Given the description of an element on the screen output the (x, y) to click on. 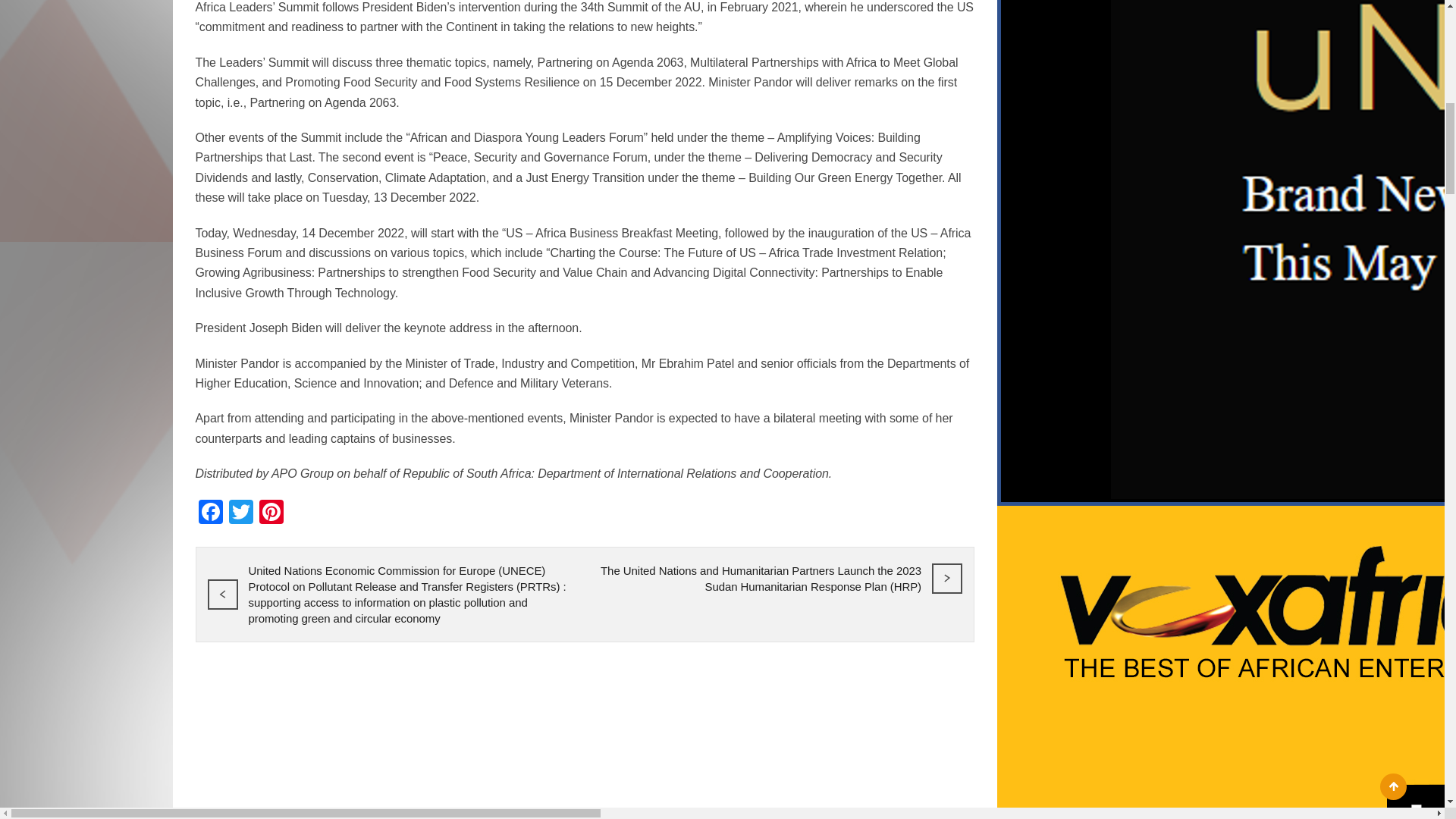
Pinterest (271, 513)
Facebook (210, 513)
Twitter (240, 513)
Twitter (240, 513)
Pinterest (271, 513)
Facebook (210, 513)
